Given the description of an element on the screen output the (x, y) to click on. 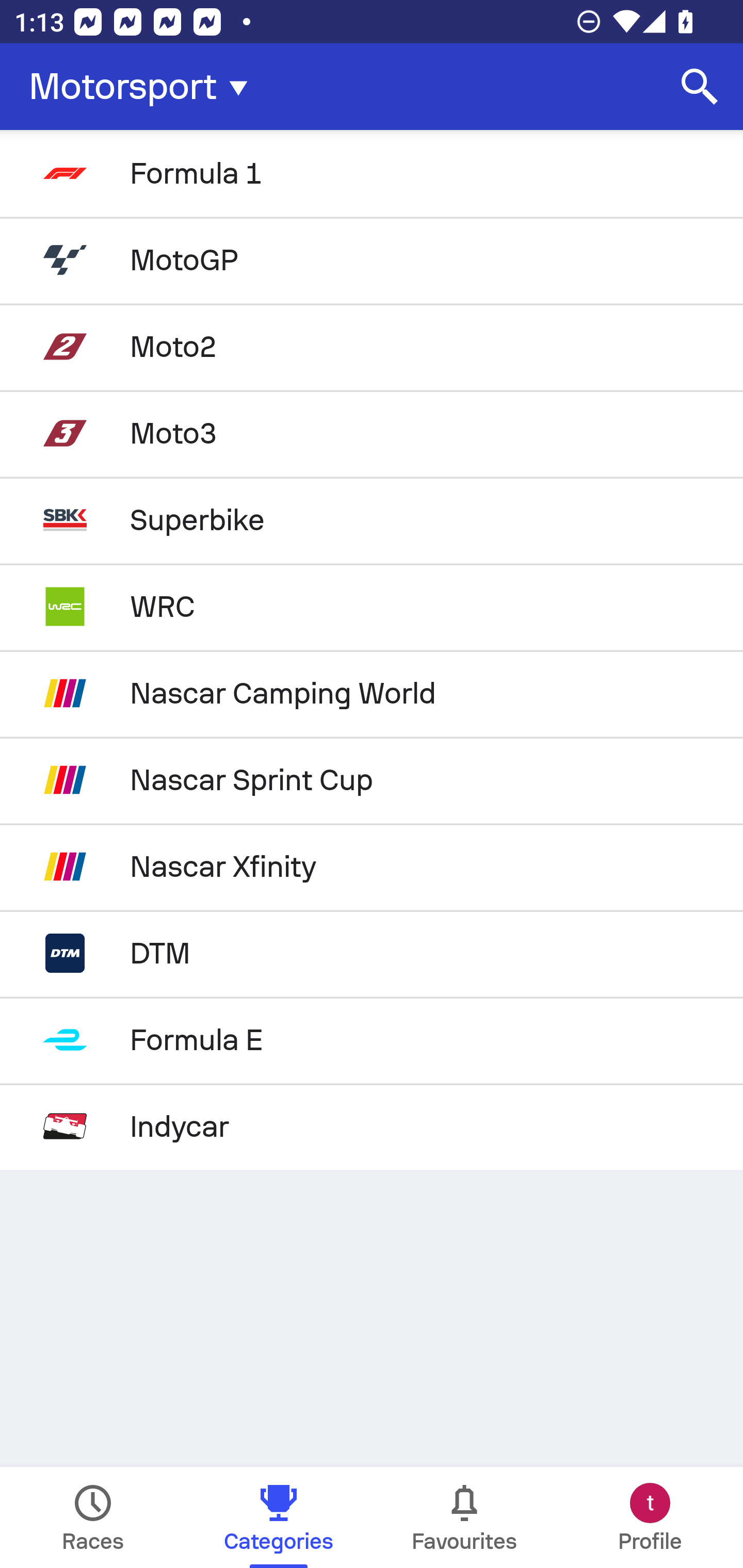
Motorsport (144, 86)
Search (699, 86)
Formula 1 (371, 173)
MotoGP (371, 259)
Moto2 (371, 346)
Moto3 (371, 433)
Superbike (371, 519)
WRC (371, 605)
Nascar Camping World (371, 692)
Nascar Sprint Cup (371, 779)
Nascar Xfinity (371, 866)
DTM (371, 953)
Formula E (371, 1040)
Indycar (371, 1126)
Races (92, 1517)
Favourites (464, 1517)
Profile (650, 1517)
